Given the description of an element on the screen output the (x, y) to click on. 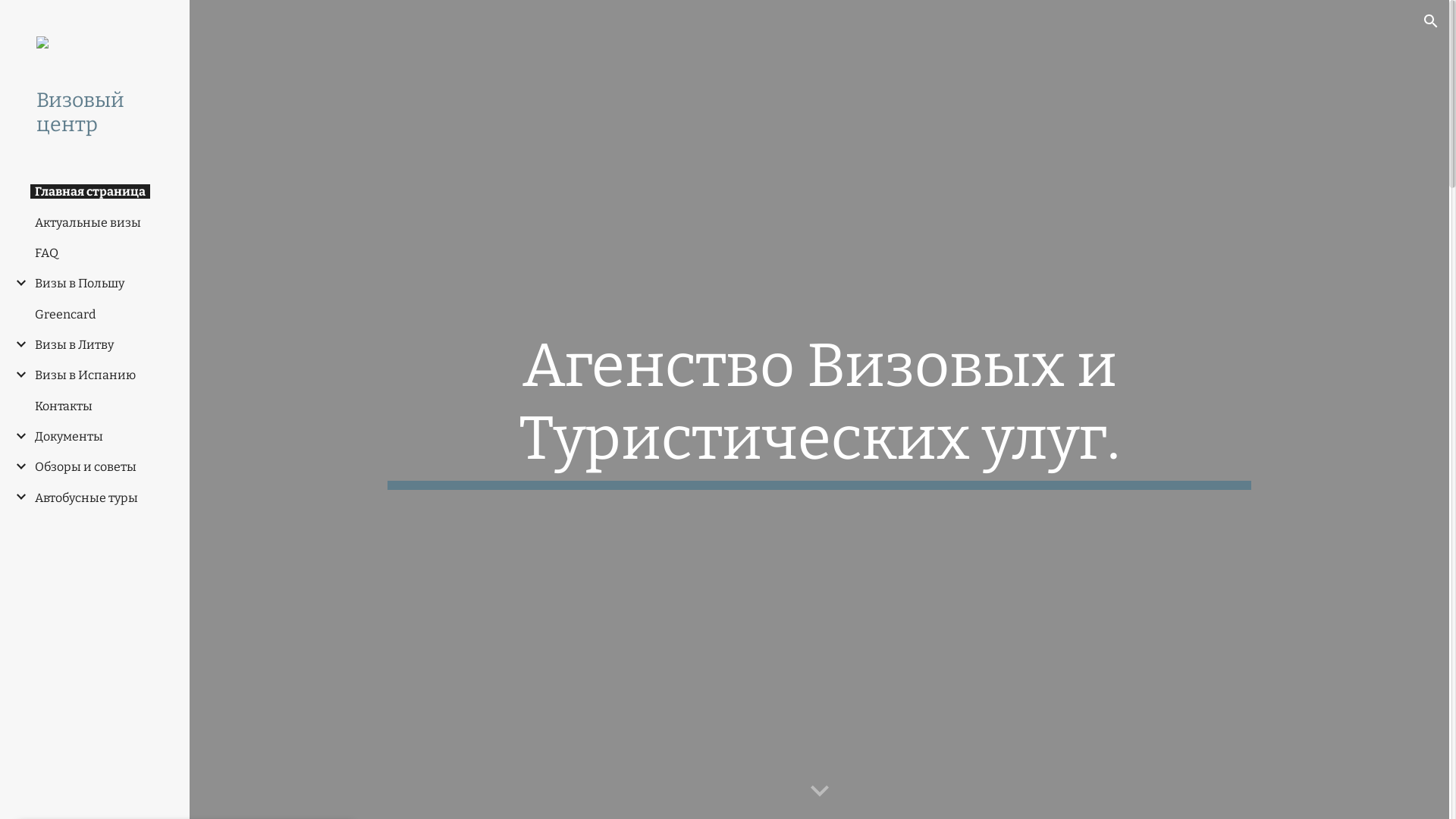
Expand/Collapse Element type: hover (16, 466)
Expand/Collapse Element type: hover (16, 282)
Expand/Collapse Element type: hover (16, 435)
Expand/Collapse Element type: hover (16, 496)
FAQ Element type: text (46, 252)
Expand/Collapse Element type: hover (16, 374)
Expand/Collapse Element type: hover (16, 344)
Greencard Element type: text (65, 314)
